Given the description of an element on the screen output the (x, y) to click on. 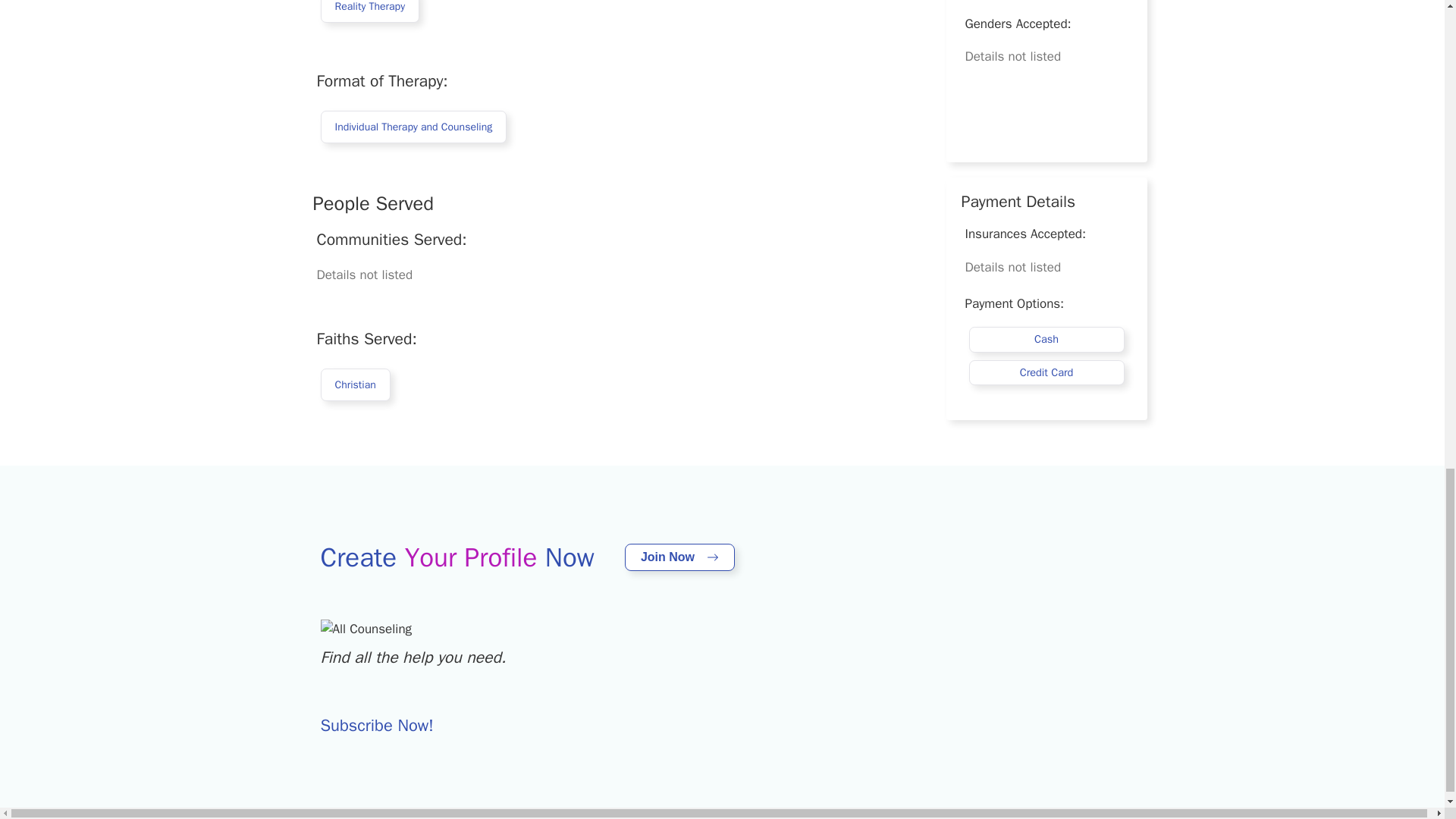
All Counseling (366, 629)
Join Now (679, 556)
